Given the description of an element on the screen output the (x, y) to click on. 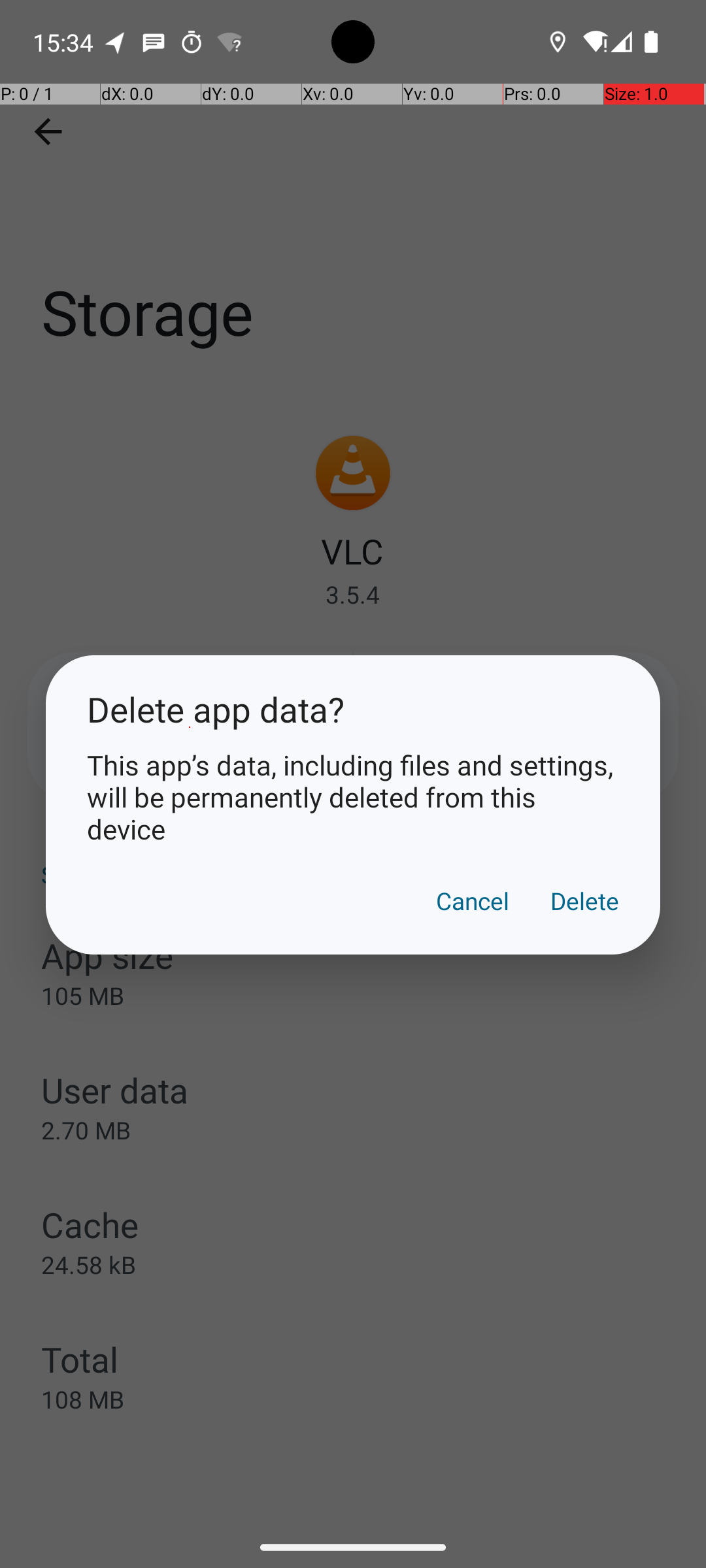
Delete app data? Element type: android.widget.TextView (352, 709)
This app’s data, including files and settings, will be permanently deleted from this device Element type: android.widget.TextView (352, 796)
